Given the description of an element on the screen output the (x, y) to click on. 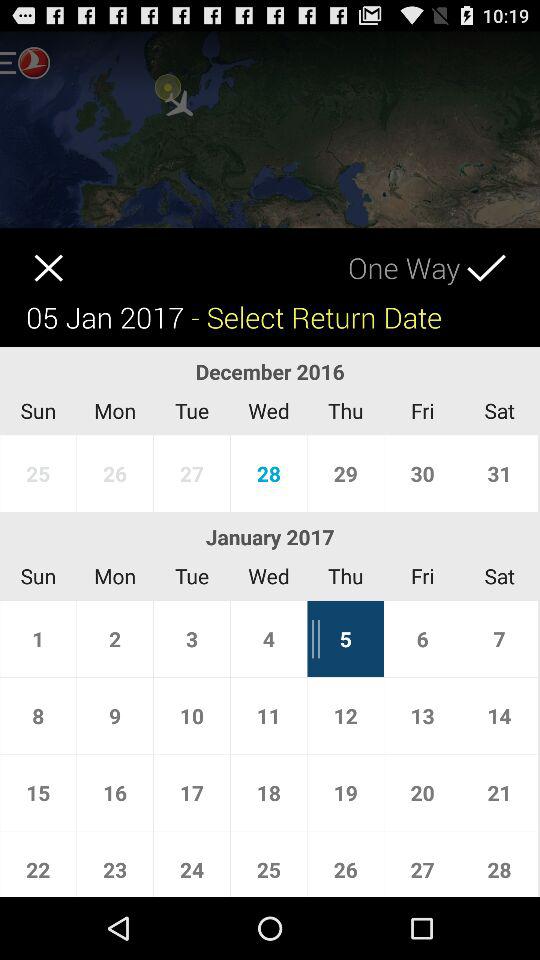
go to sealet (503, 254)
